Given the description of an element on the screen output the (x, y) to click on. 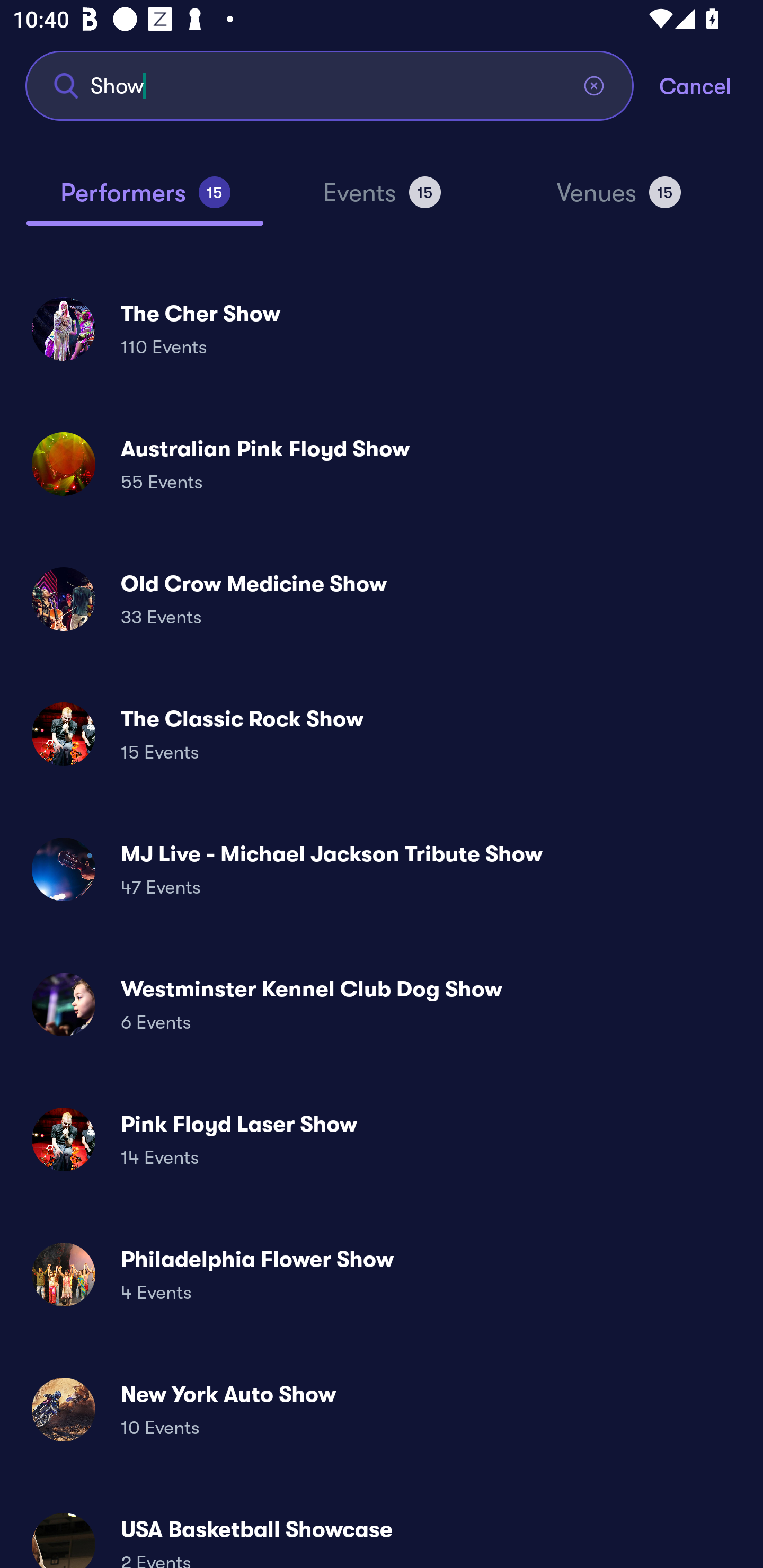
Cancel (711, 85)
Show Find (329, 85)
Show Find (329, 85)
Performers 15 (144, 200)
Events 15 (381, 200)
Venues 15 (618, 200)
The Cher Show 110 Events (381, 328)
Australian Pink Floyd Show 55 Events (381, 464)
Old Crow Medicine Show 33 Events (381, 598)
The Classic Rock Show 15 Events (381, 734)
MJ Live - Michael Jackson Tribute Show 47 Events (381, 869)
Westminster Kennel Club Dog Show 6 Events (381, 1004)
Pink Floyd Laser Show 14 Events (381, 1138)
Philadelphia Flower Show 4 Events (381, 1273)
New York Auto Show 10 Events (381, 1409)
USA Basketball Showcase 2 Events (381, 1532)
